Given the description of an element on the screen output the (x, y) to click on. 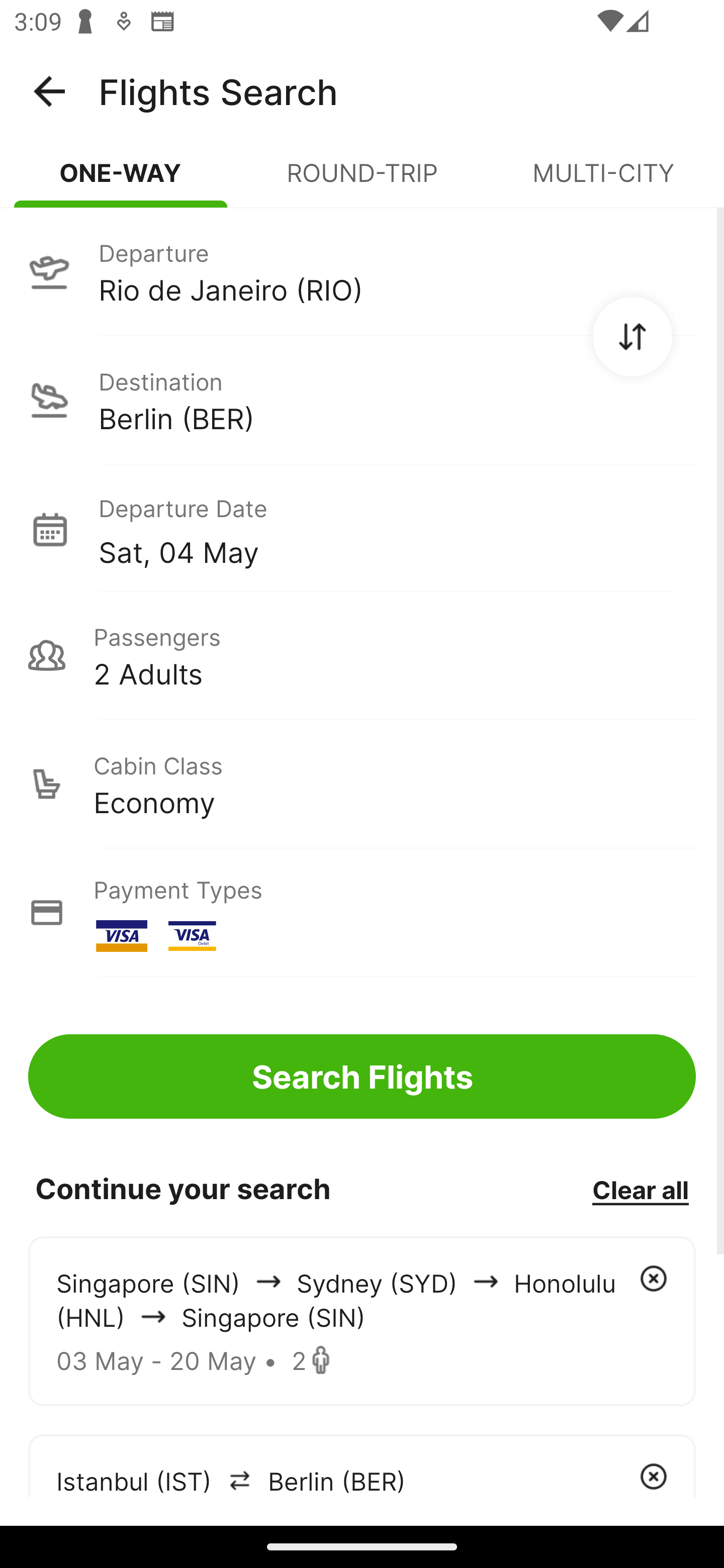
ONE-WAY (120, 180)
ROUND-TRIP (361, 180)
MULTI-CITY (603, 180)
Departure Rio de Janeiro (RIO) (362, 270)
Destination Berlin (BER) (362, 400)
Departure Date Sat, 04 May (396, 528)
Passengers 2 Adults (362, 655)
Cabin Class Economy (362, 783)
Payment Types (362, 912)
Search Flights (361, 1075)
Clear all (640, 1189)
Istanbul (IST)  arrowIcon  Berlin (BER) (361, 1465)
